Given the description of an element on the screen output the (x, y) to click on. 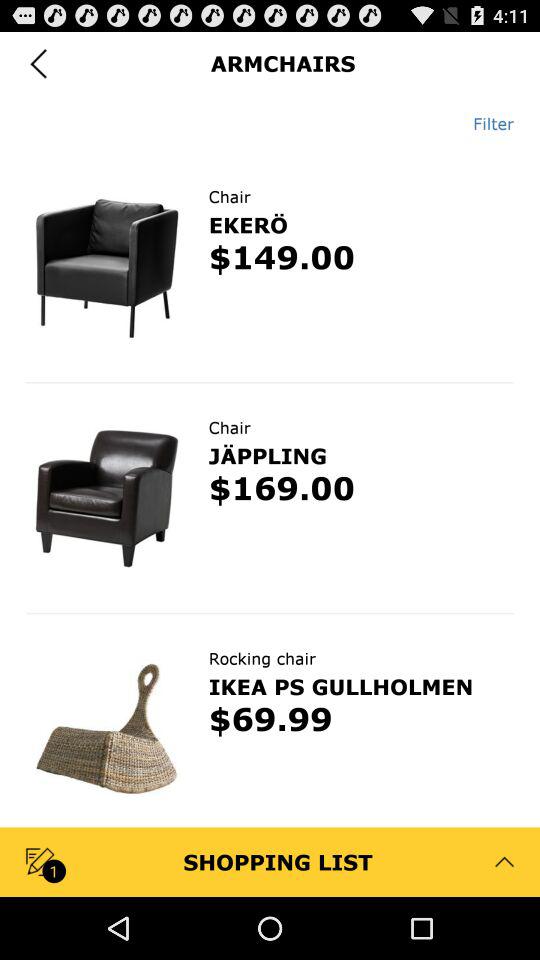
select the item below the rocking chair app (340, 686)
